Given the description of an element on the screen output the (x, y) to click on. 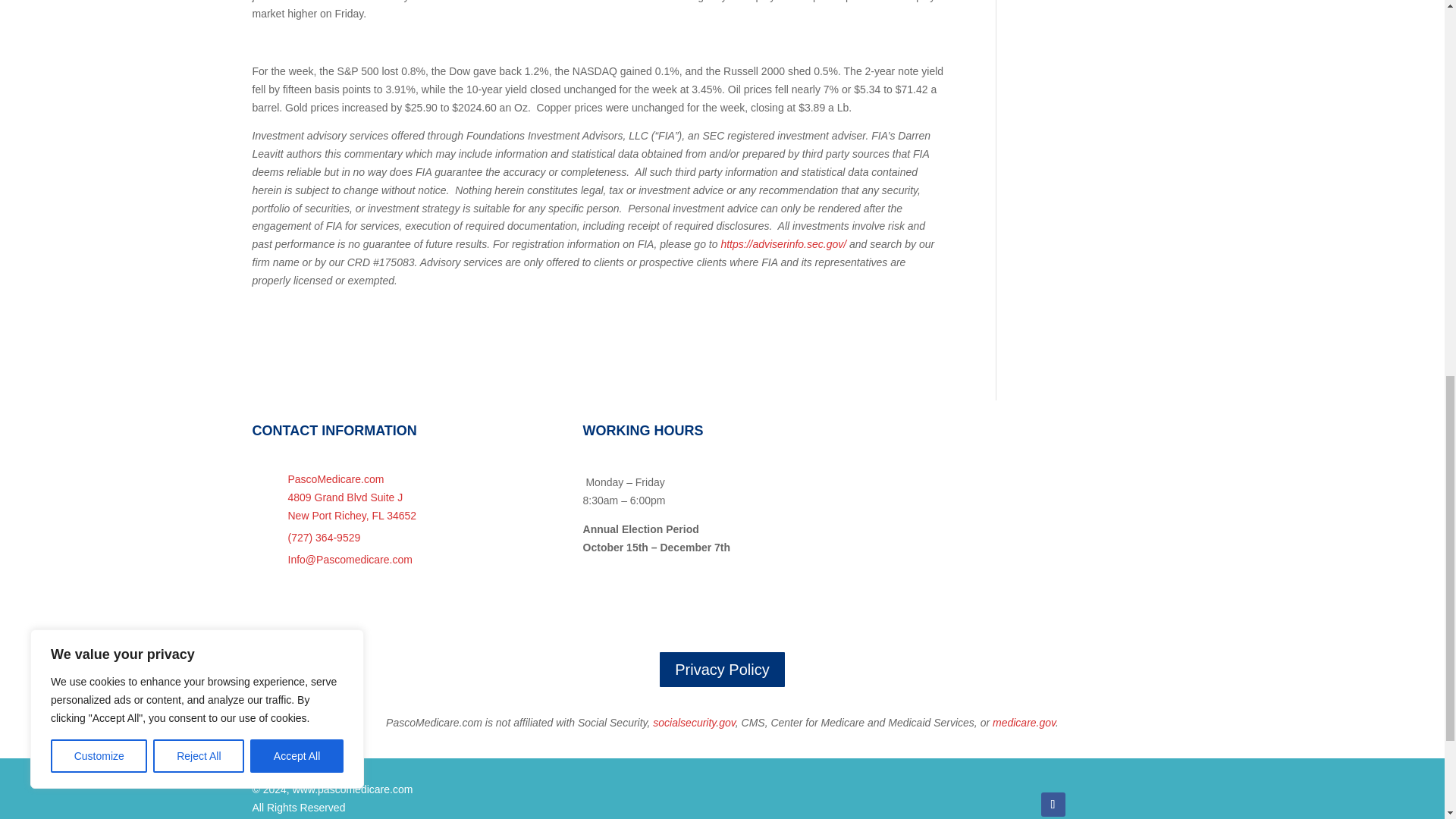
Follow on Facebook (1053, 804)
